Given the description of an element on the screen output the (x, y) to click on. 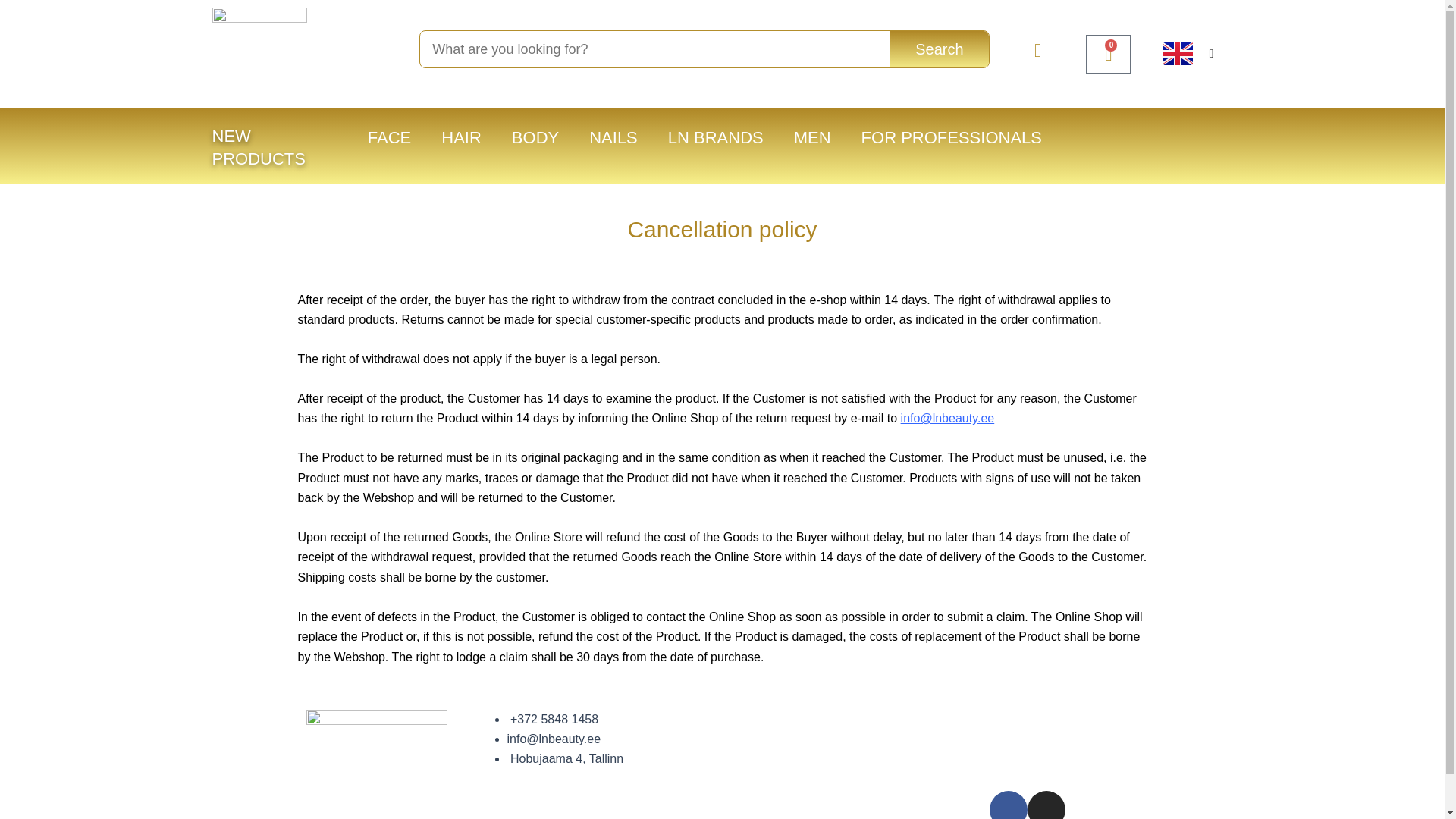
NEW PRODUCTS (258, 147)
MEN (811, 137)
FACE (389, 137)
Search (938, 49)
HAIR (461, 137)
BODY (534, 137)
FOR PROFESSIONALS (951, 137)
NAILS (1108, 54)
LN BRANDS (612, 137)
